Given the description of an element on the screen output the (x, y) to click on. 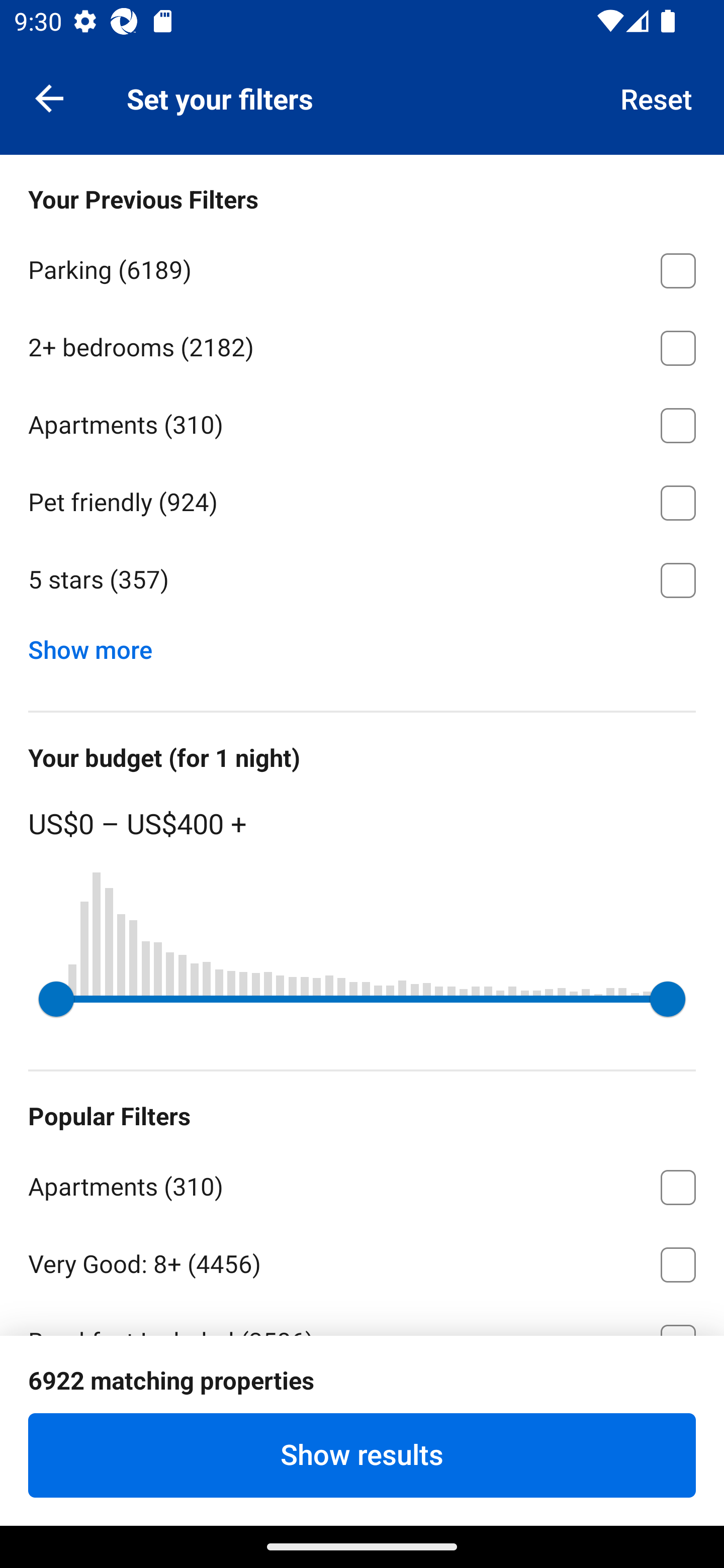
Navigate up (49, 97)
Reset (656, 97)
Parking ⁦(6189) (361, 266)
2+ bedrooms ⁦(2182) (361, 344)
Apartments ⁦(310) (361, 422)
Pet friendly ⁦(924) (361, 498)
5 stars ⁦(357) (361, 579)
Show more (97, 645)
0.0 Range start,US$0 400.0 Range end,US$400 + (361, 998)
Apartments ⁦(310) (361, 1183)
Very Good: 8+ ⁦(4456) (361, 1261)
Show results (361, 1454)
